Given the description of an element on the screen output the (x, y) to click on. 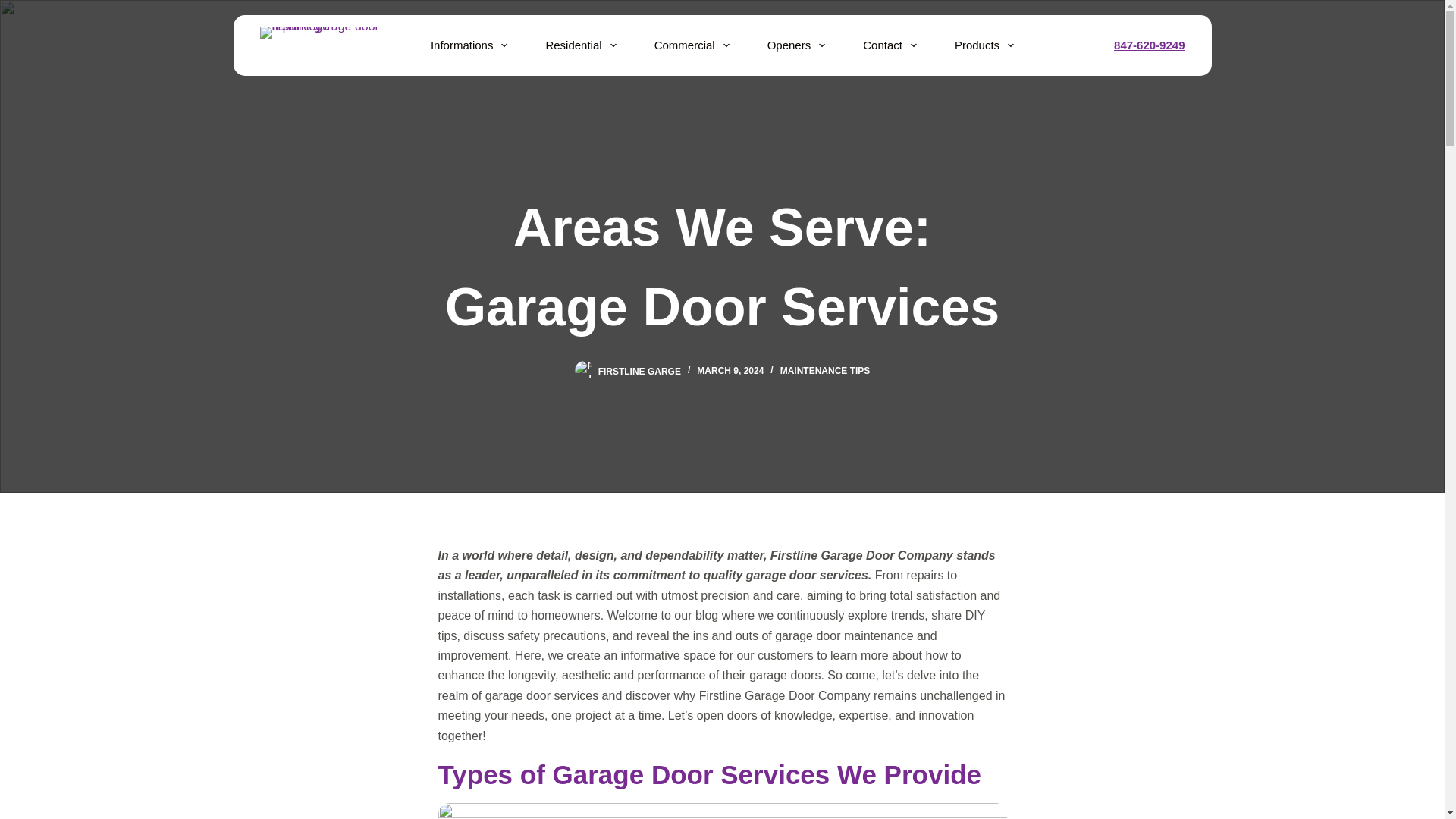
Areas We Serve: Garage Door Services (722, 267)
Posts by Firstline Garge (639, 370)
Skip to content (15, 7)
